Given the description of an element on the screen output the (x, y) to click on. 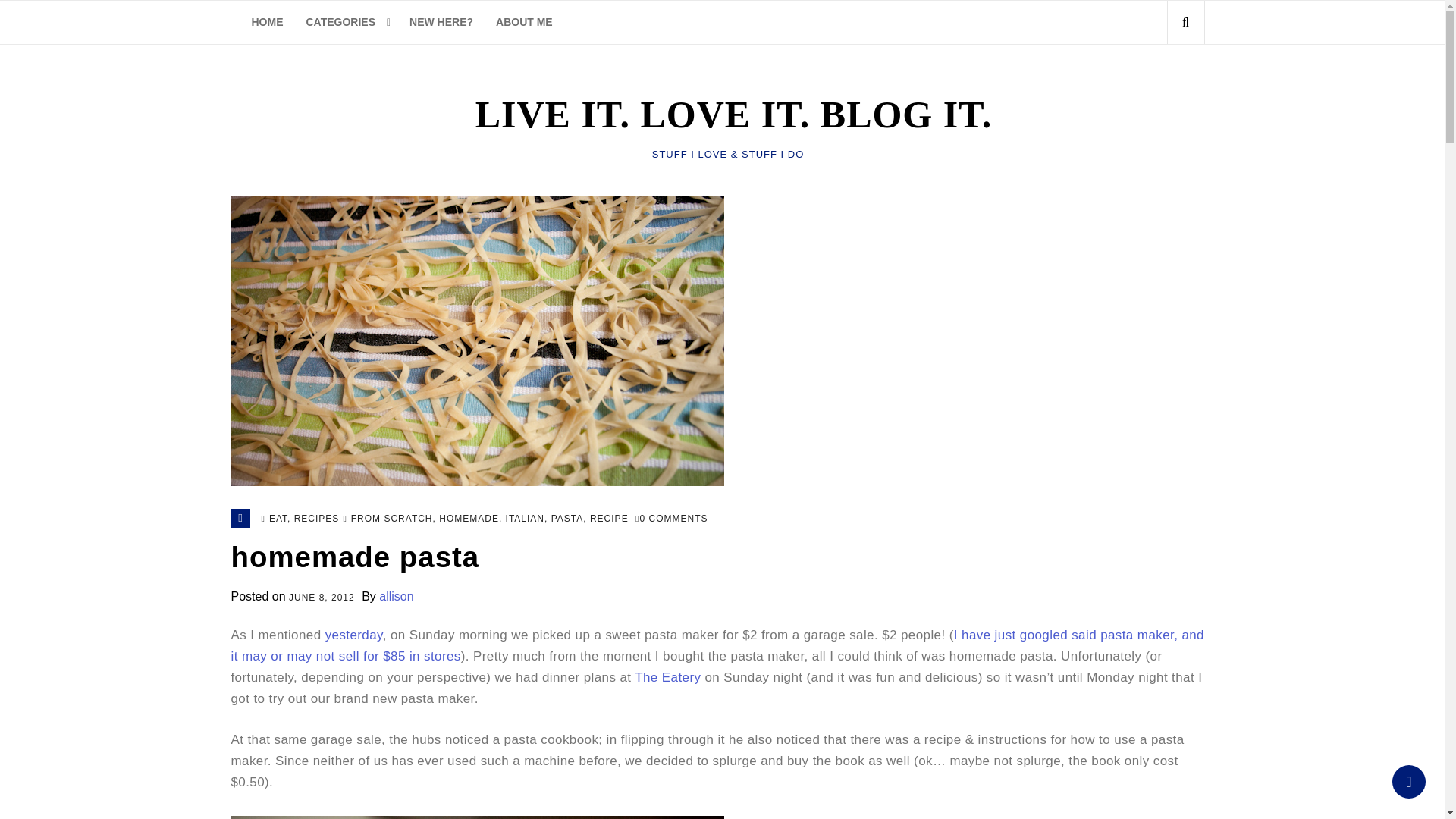
PASTA (567, 519)
EAT (277, 519)
yesterday (353, 635)
LIVE IT. LOVE IT. BLOG IT. (728, 114)
Go to Top (1408, 781)
RECIPE (608, 519)
CATEGORIES (345, 22)
HOME (267, 22)
HOMEMADE (469, 519)
FROM SCRATCH (391, 519)
0 COMMENTS (670, 519)
ITALIAN (524, 519)
JUNE 8, 2012 (321, 598)
ABOUT ME (524, 22)
The Eatery (667, 677)
